Given the description of an element on the screen output the (x, y) to click on. 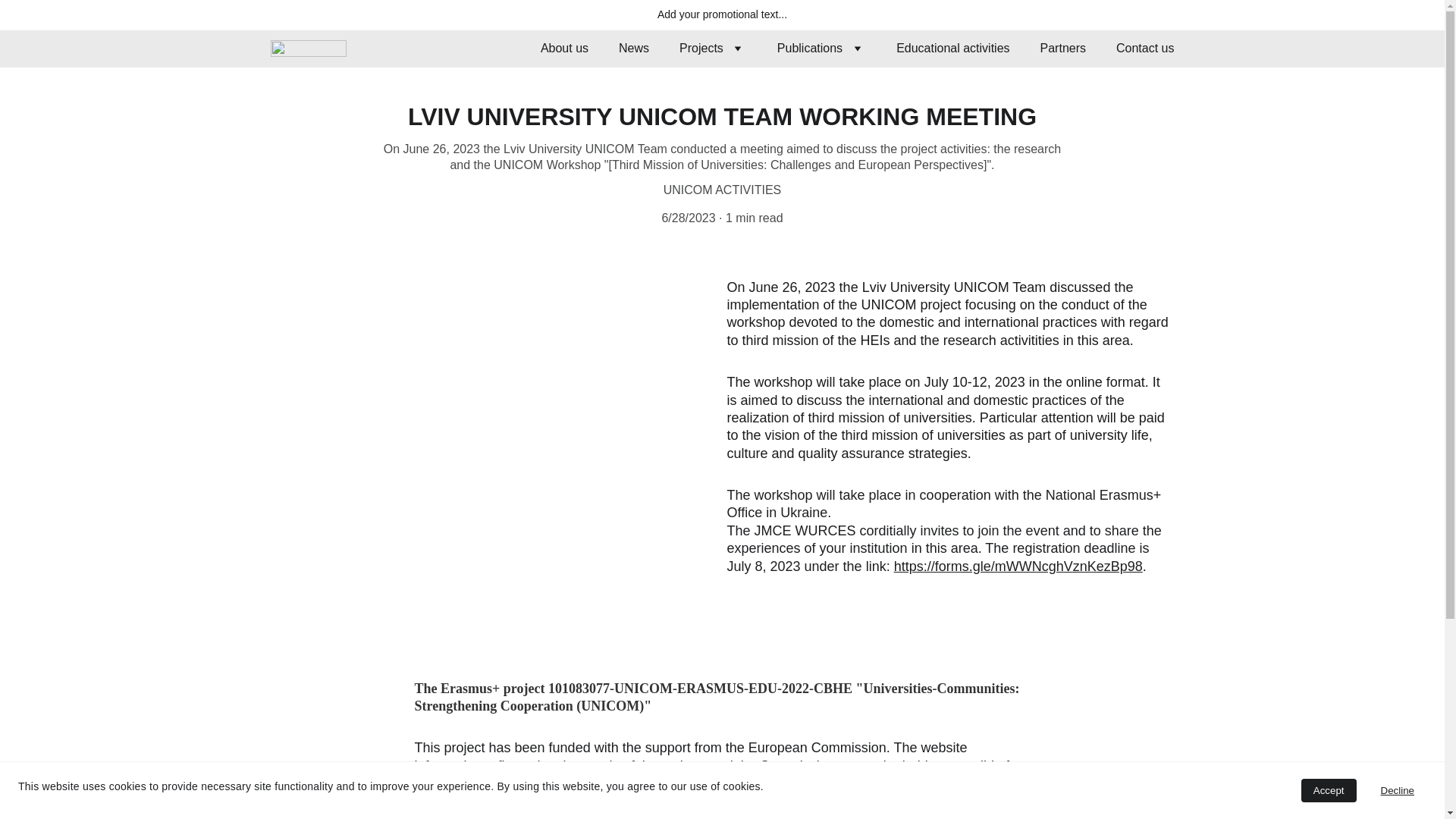
About us (564, 48)
Partners (1063, 48)
News (633, 48)
Educational activities (952, 48)
Accept (1328, 790)
Projects (701, 48)
Contact us (1144, 48)
Decline (1397, 790)
